Given the description of an element on the screen output the (x, y) to click on. 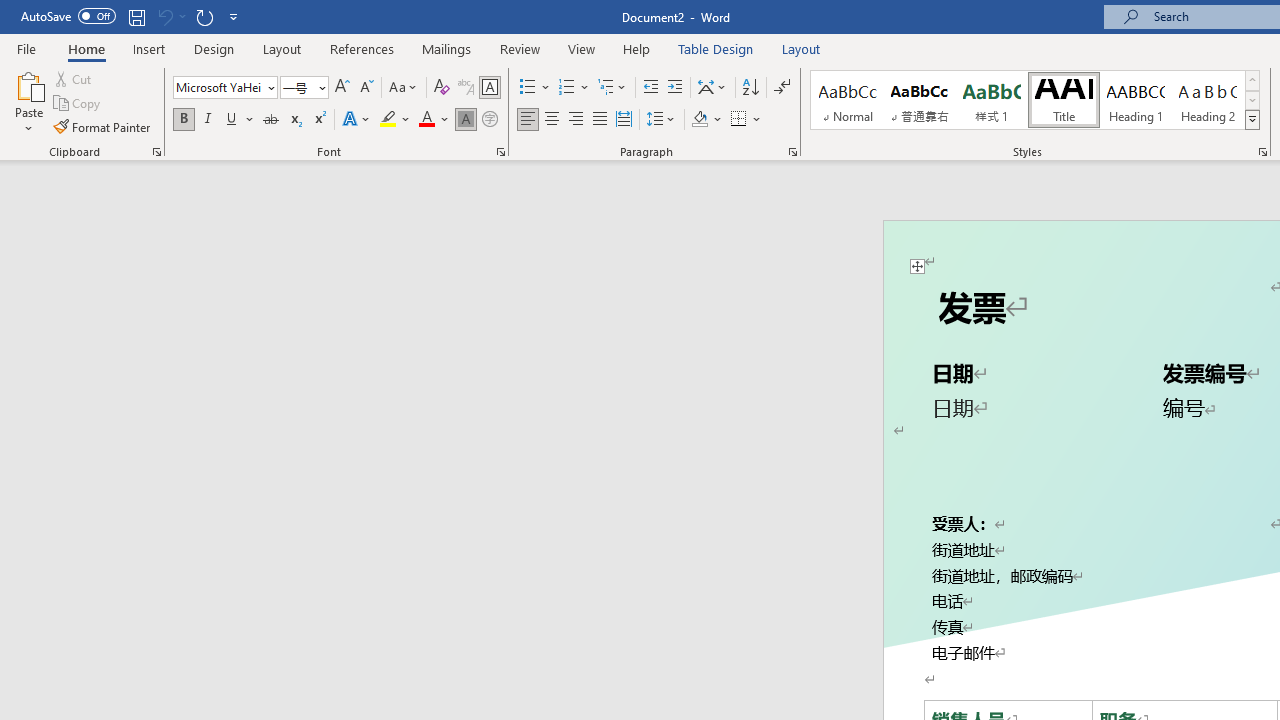
Heading 1 (1135, 100)
AutoSave (68, 16)
Enclose Characters... (489, 119)
Office Clipboard... (156, 151)
Asian Layout (712, 87)
Subscript (294, 119)
Shrink Font (365, 87)
Customize Quick Access Toolbar (234, 15)
Sort... (750, 87)
View (582, 48)
References (362, 48)
Change Case (404, 87)
Layout (801, 48)
Class: NetUIImage (1252, 119)
